Given the description of an element on the screen output the (x, y) to click on. 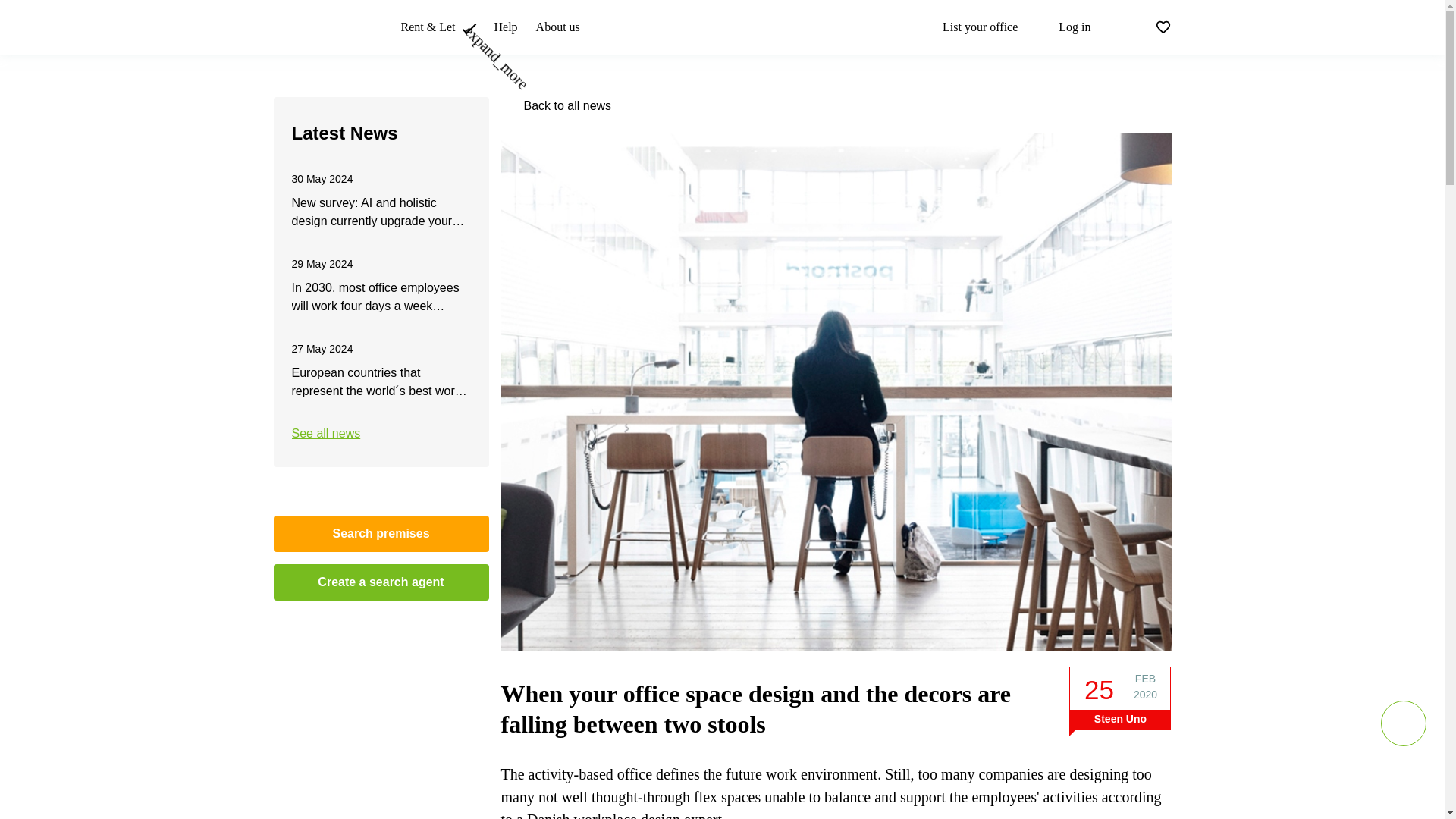
List your office (968, 27)
About us (557, 27)
Log in (1062, 27)
Back to top (1403, 723)
Back to all news (566, 106)
Help (504, 27)
